Given the description of an element on the screen output the (x, y) to click on. 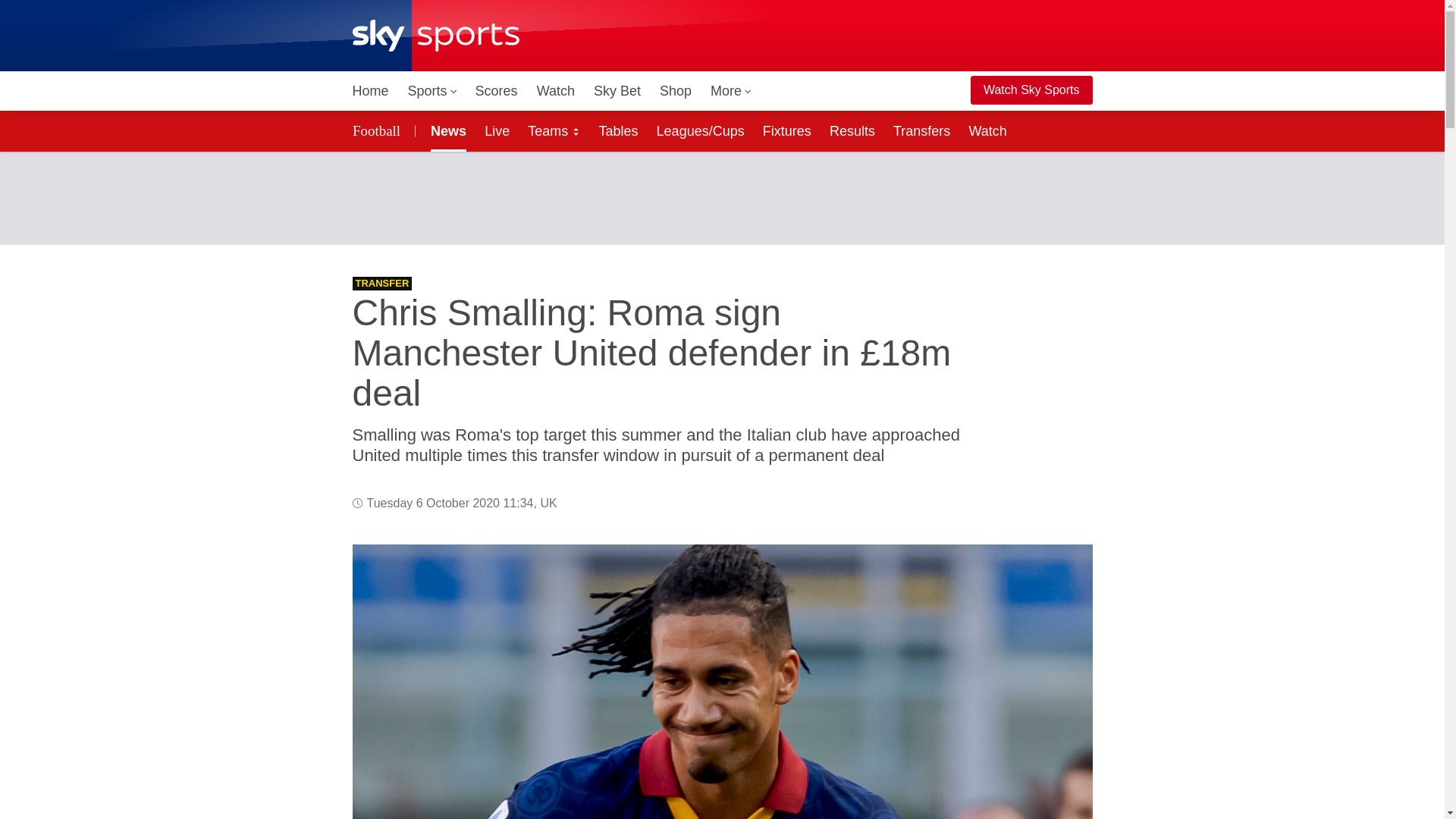
More (730, 91)
Sports (432, 91)
Watch Sky Sports (1032, 90)
Scores (496, 91)
Shop (675, 91)
Live (497, 130)
Sky Bet (616, 91)
Watch (555, 91)
Home (369, 91)
Teams (553, 130)
News (445, 130)
Football (378, 130)
